Given the description of an element on the screen output the (x, y) to click on. 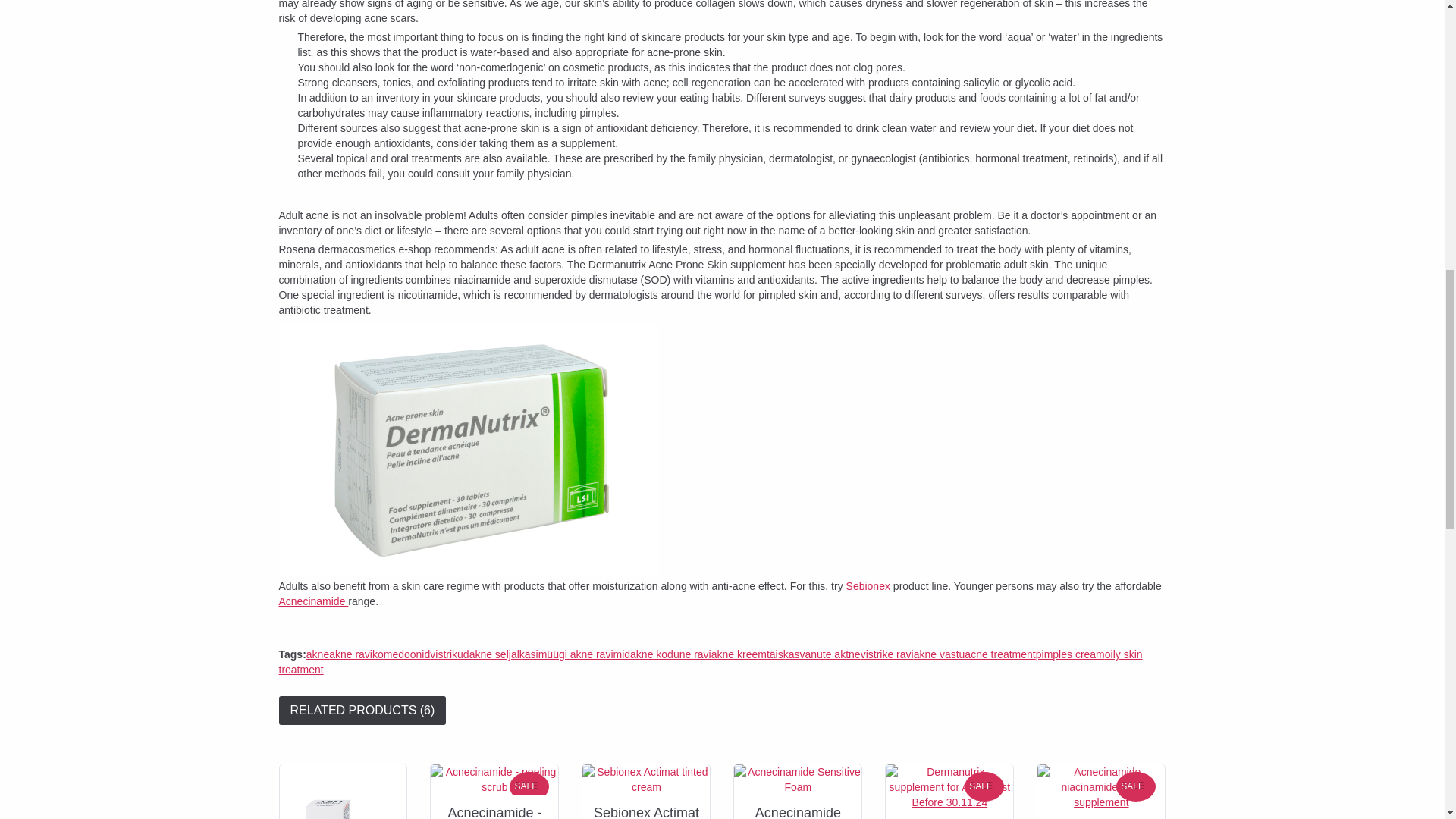
akne ravi (350, 654)
akne kodune ravi (670, 654)
akne seljal (493, 654)
akne (317, 654)
vistrikud (448, 654)
komedoonid (400, 654)
